Given the description of an element on the screen output the (x, y) to click on. 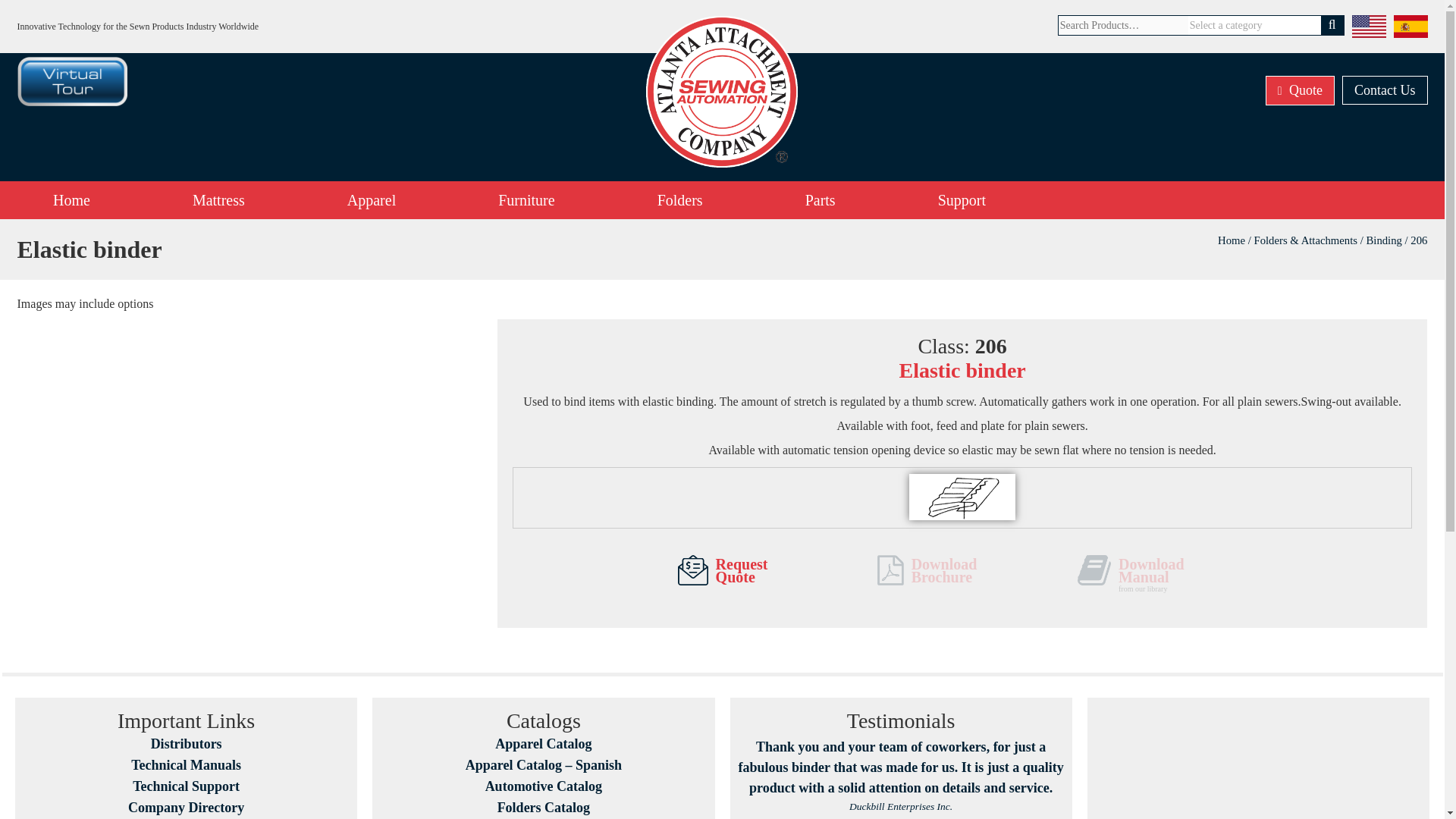
Home (71, 199)
Mattress (218, 199)
Search for: (1123, 25)
Search (1331, 25)
Quote (1300, 90)
